Given the description of an element on the screen output the (x, y) to click on. 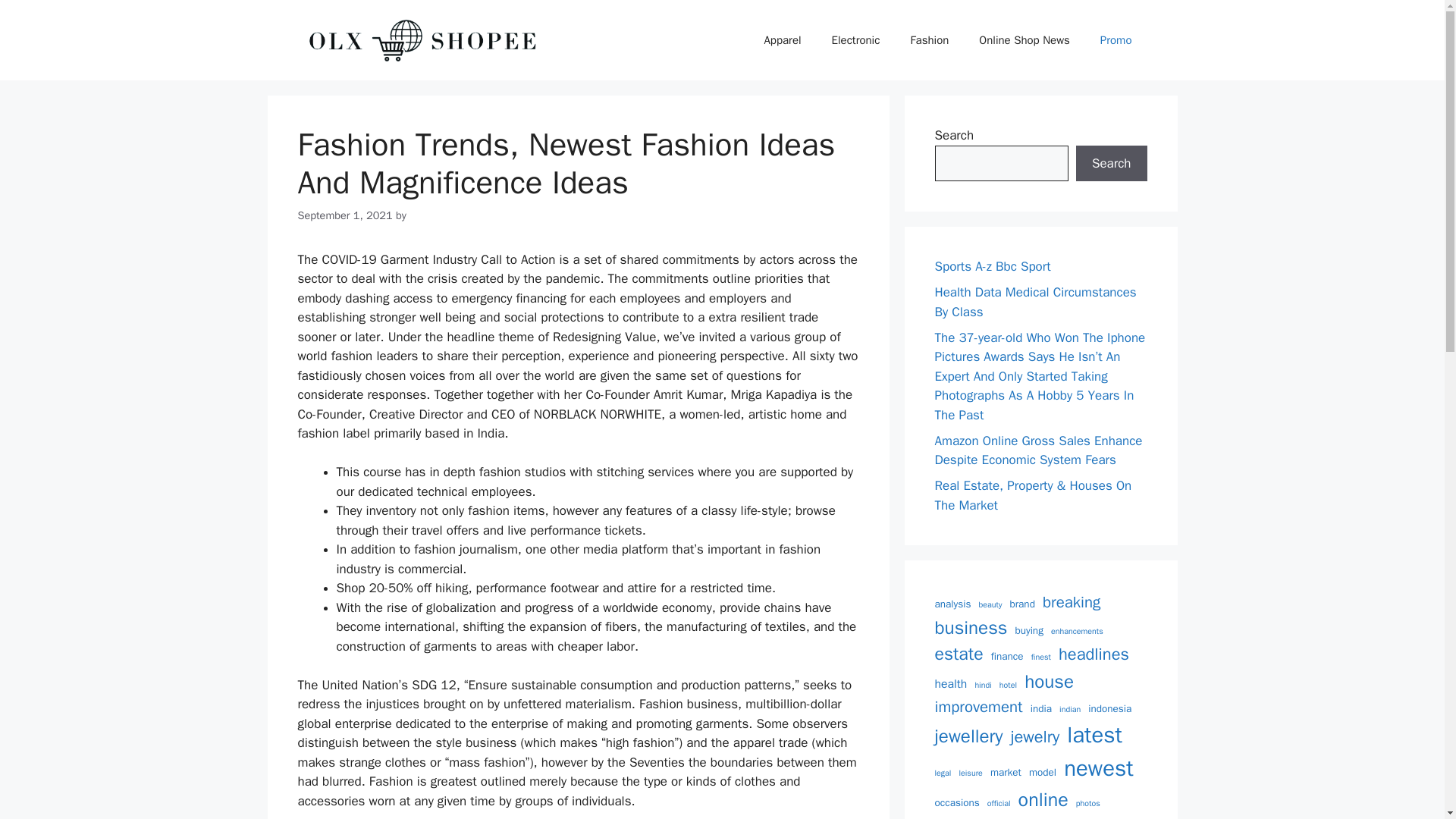
buying (1028, 630)
beauty (990, 604)
Fashion (929, 40)
jewelry (1034, 737)
analysis (952, 604)
health (950, 684)
brand (1022, 604)
finest (1040, 657)
estate (958, 654)
Promo (1115, 40)
breaking (1071, 602)
indian (1069, 709)
headlines (1093, 654)
Apparel (781, 40)
Health Data Medical Circumstances By Class (1034, 302)
